Given the description of an element on the screen output the (x, y) to click on. 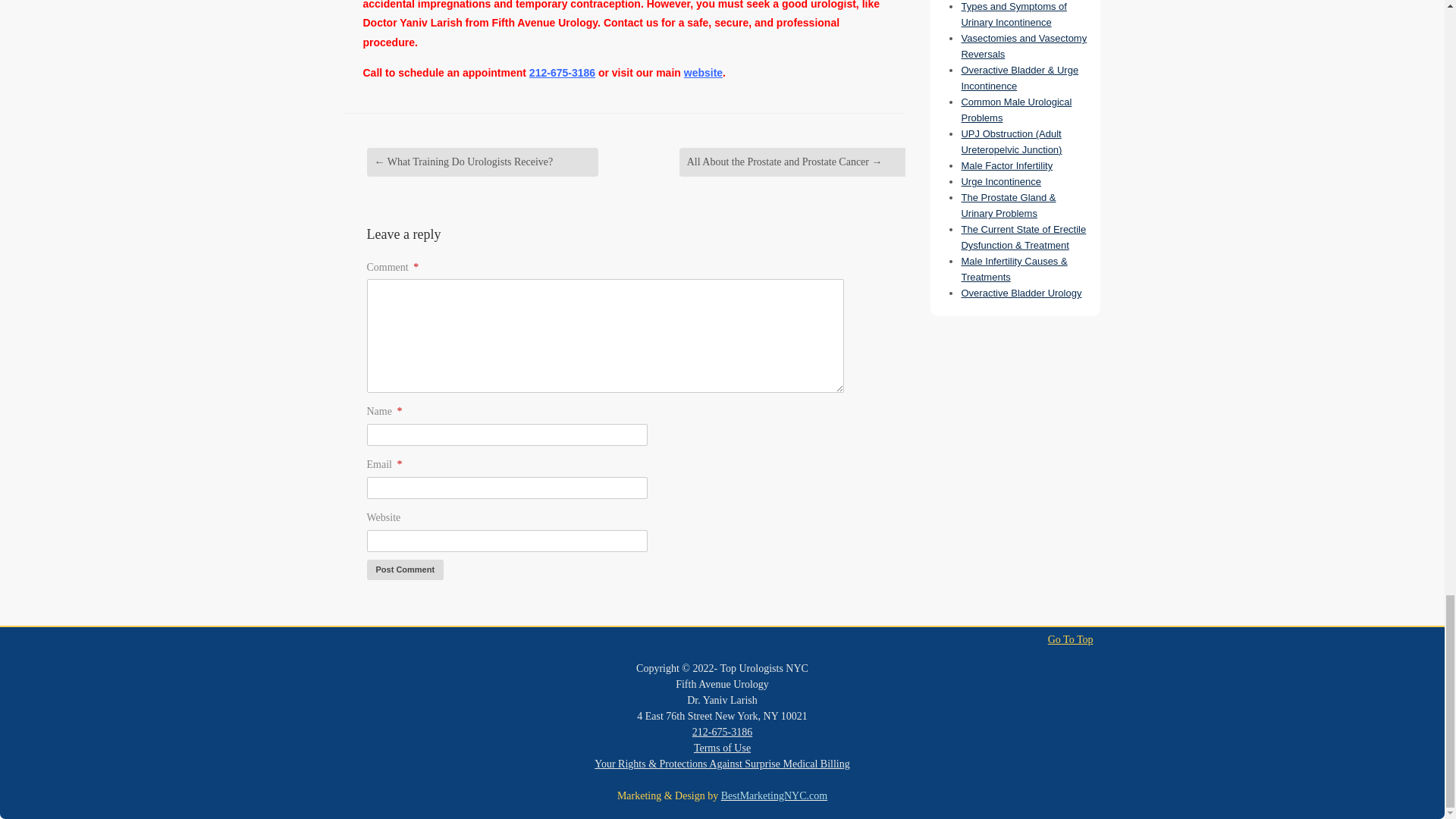
Post Comment (405, 569)
Post Comment (405, 569)
212-675-3186 (562, 72)
website (703, 72)
